Given the description of an element on the screen output the (x, y) to click on. 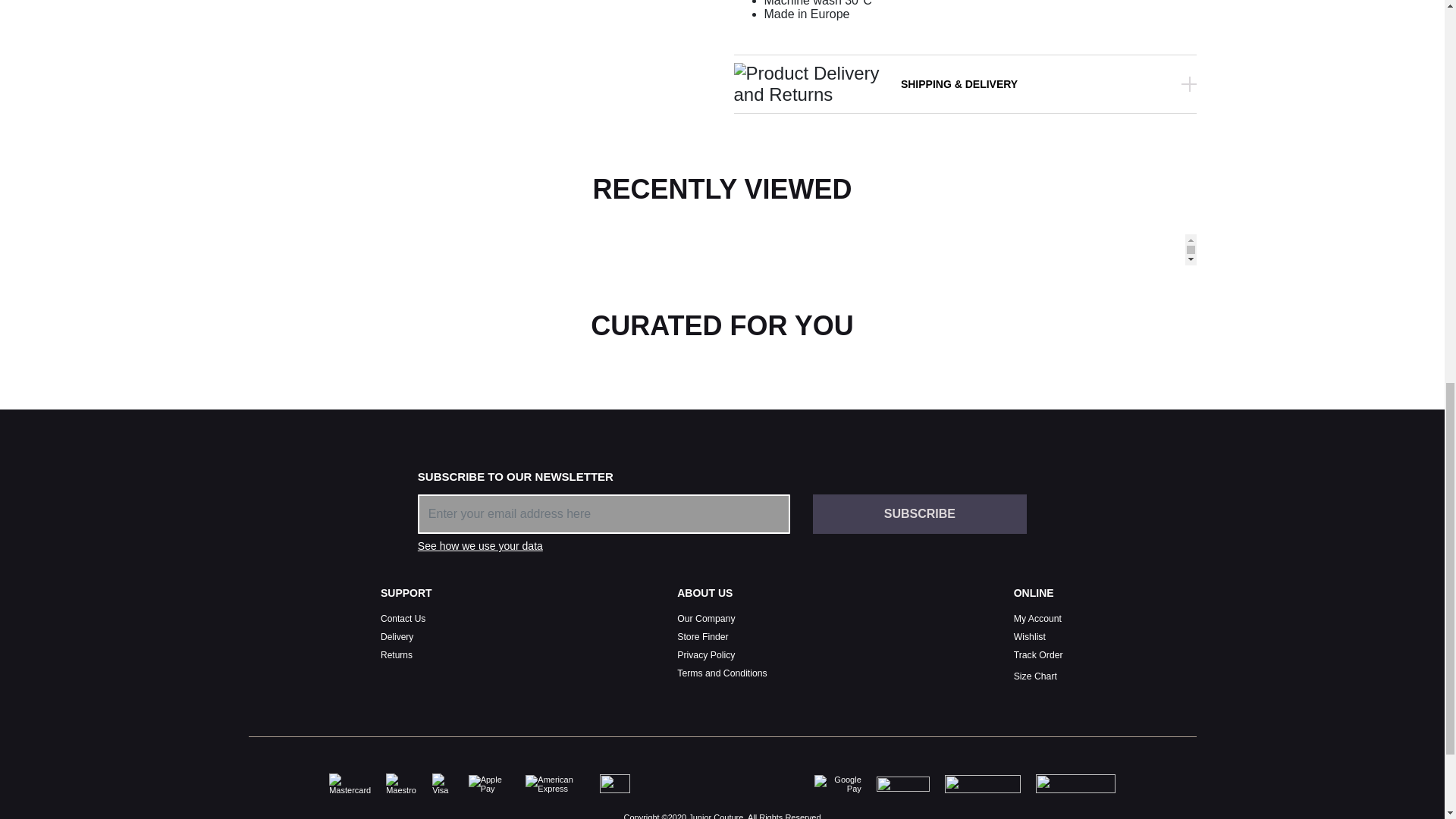
Go to Store Locator (702, 636)
Go to Privacy (706, 655)
My Account (1037, 618)
Wishlist (1029, 636)
Go to Contact Us (402, 618)
Go to Terms (722, 673)
Track Order (1037, 655)
Go to Our Company (706, 618)
